Given the description of an element on the screen output the (x, y) to click on. 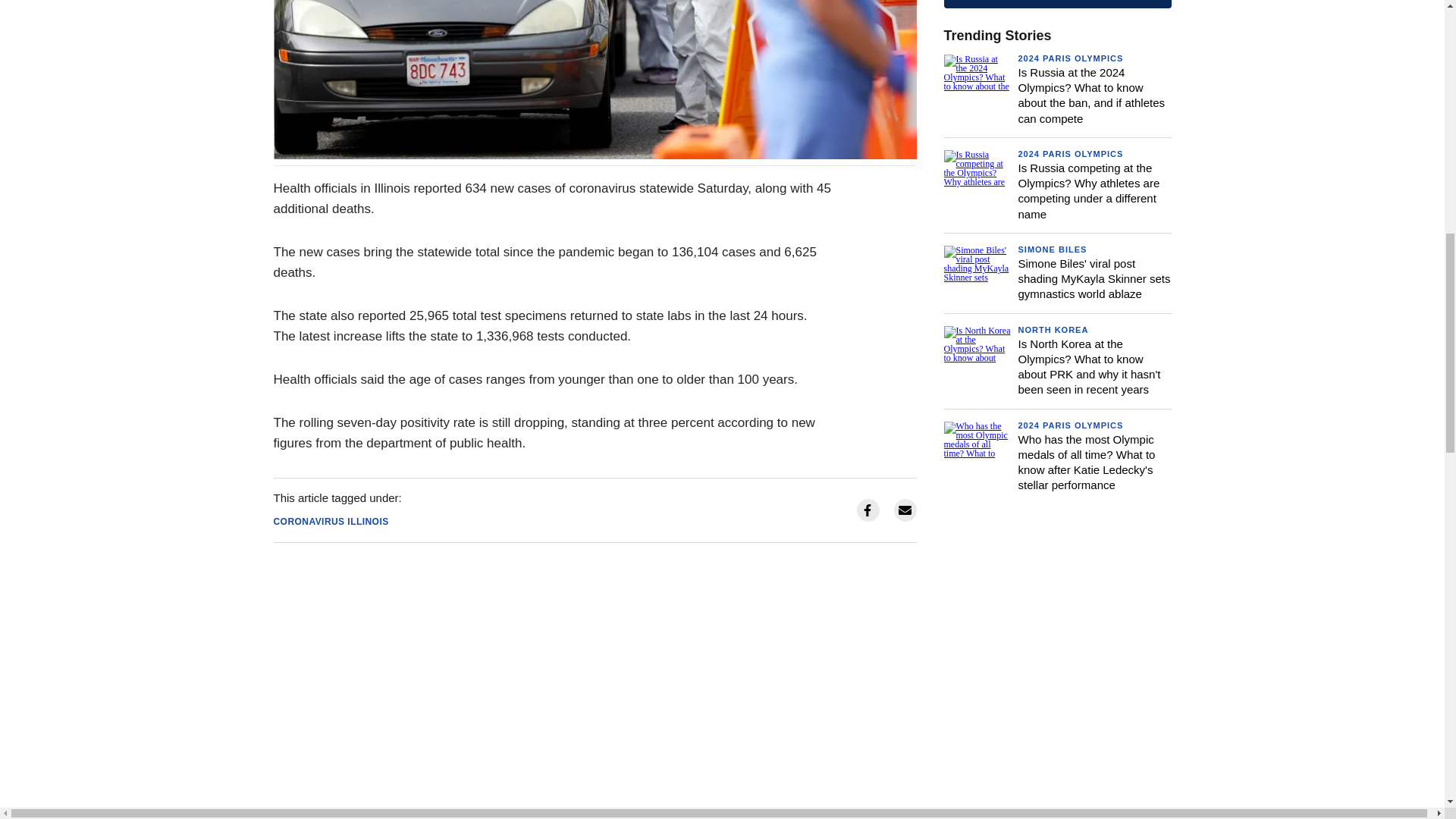
SIMONE BILES (1051, 248)
2024 PARIS OLYMPICS (1069, 58)
CORONAVIRUS ILLINOIS (330, 521)
2024 PARIS OLYMPICS (1069, 153)
